Given the description of an element on the screen output the (x, y) to click on. 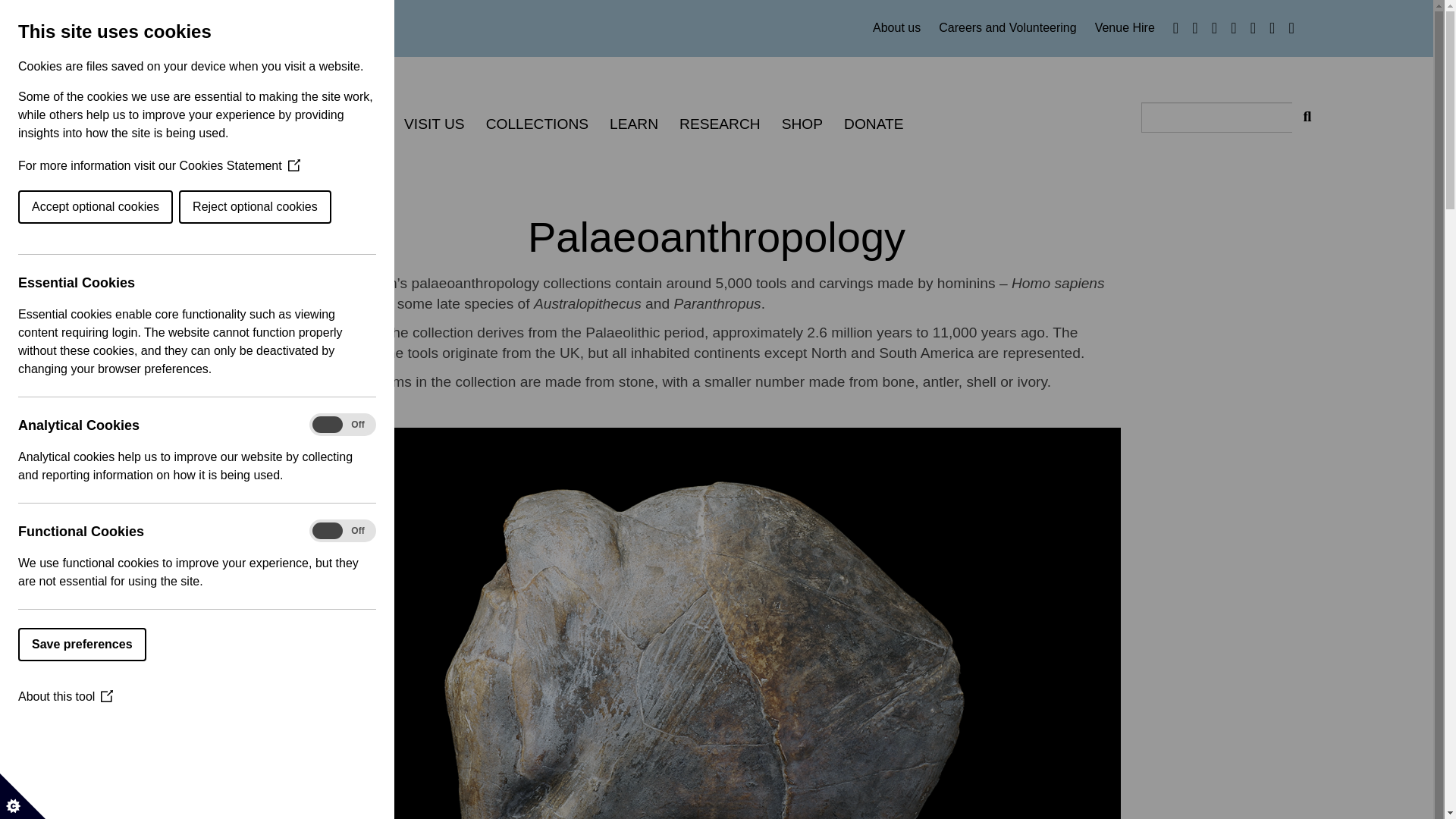
VISIT US (434, 123)
Venue Hire (1124, 28)
About us (902, 28)
Reject optional cookies (49, 206)
Careers and Volunteering (1013, 28)
Venue Hire (1124, 28)
